Given the description of an element on the screen output the (x, y) to click on. 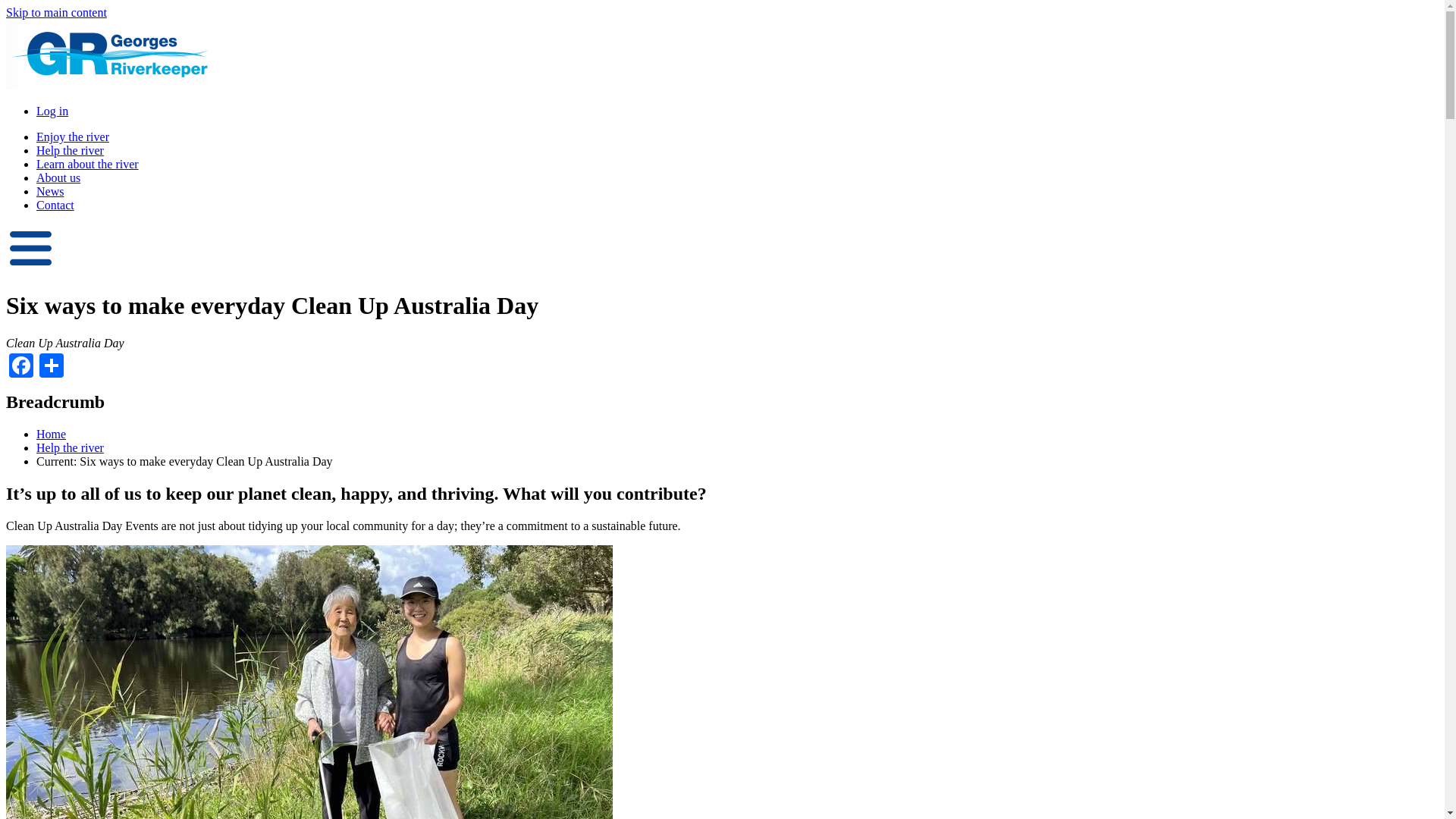
Enjoy the river (72, 136)
Home (50, 433)
Latest news (50, 191)
Help the river (69, 150)
Facebook (20, 363)
About us (58, 177)
News (50, 191)
Log in (52, 110)
Help the river (69, 447)
Skip to main content (55, 11)
Learn about the river (87, 164)
Contact (55, 205)
